Given the description of an element on the screen output the (x, y) to click on. 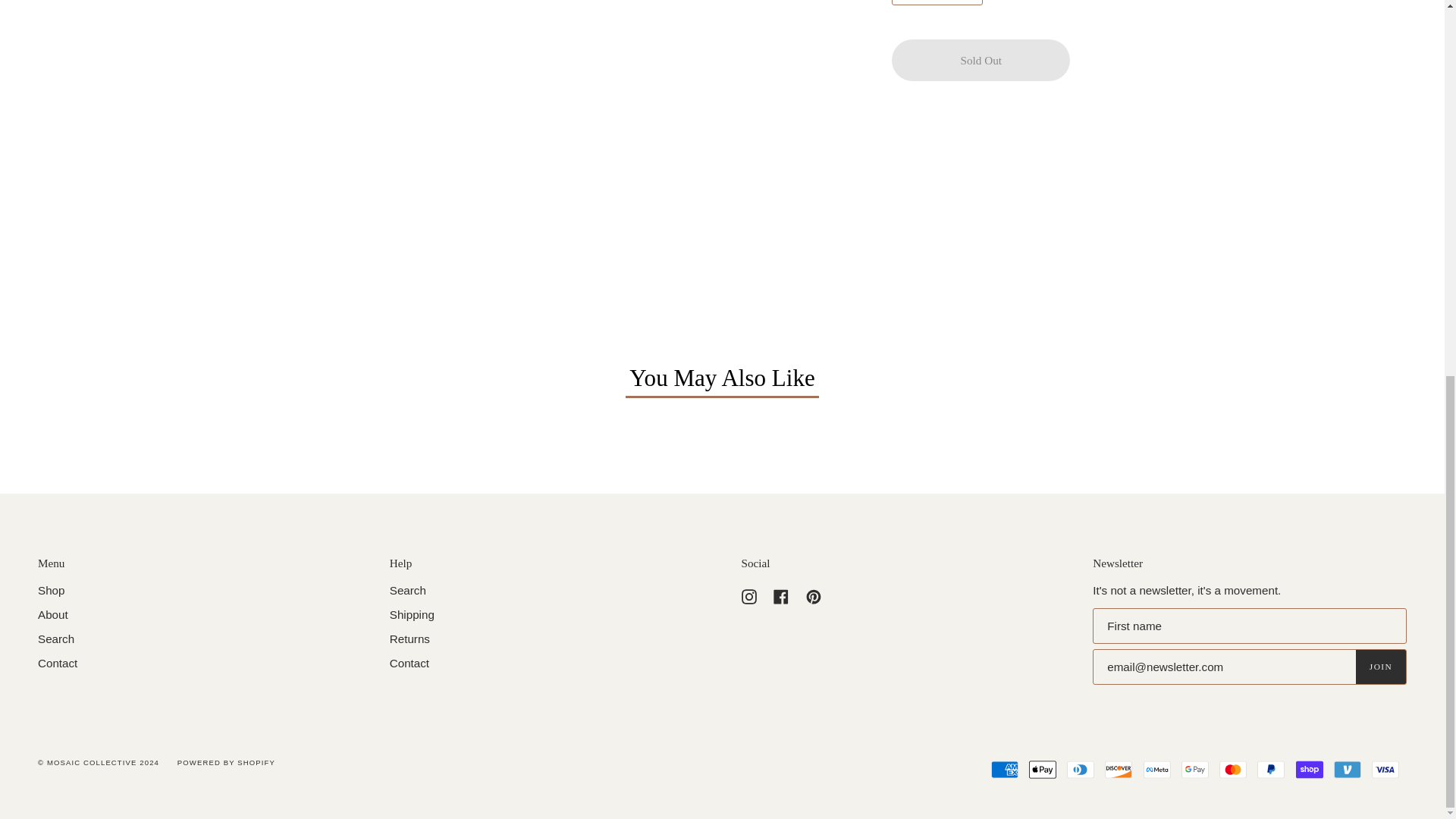
Mosaic Collective on Facebook (781, 594)
Visa (1385, 769)
Shop Pay (1309, 769)
Google Pay (1194, 769)
Apple Pay (1043, 769)
Mosaic Collective on Instagram (749, 594)
PayPal (1270, 769)
Mastercard (1233, 769)
Venmo (1347, 769)
Discover (1118, 769)
